Given the description of an element on the screen output the (x, y) to click on. 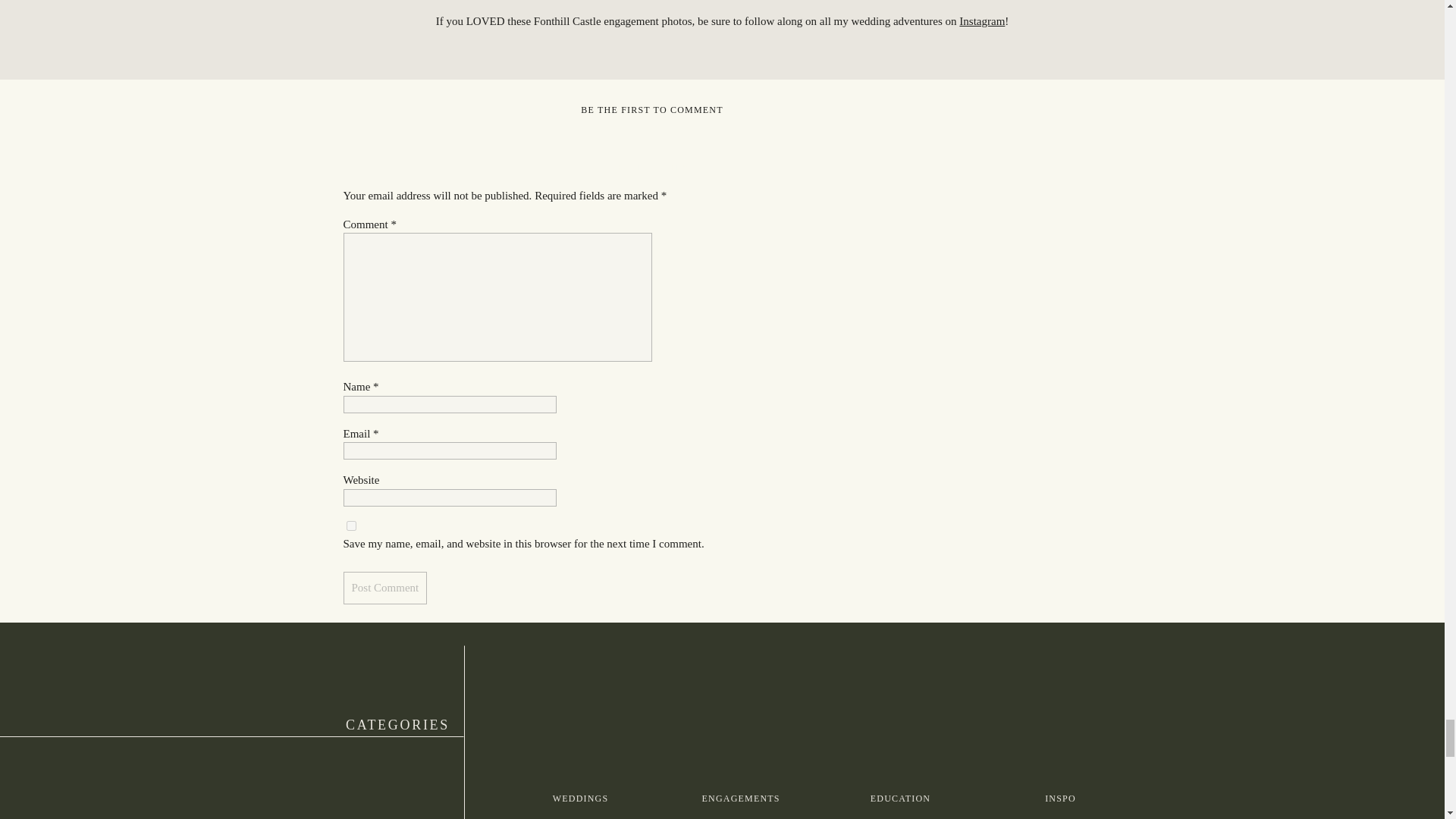
Post Comment (384, 587)
WEDDINGS (579, 798)
Post Comment (384, 587)
ENGAGEMENTS (739, 798)
INSPO (1060, 798)
BE THE FIRST TO COMMENT (651, 109)
yes (350, 525)
Instagram (981, 21)
